Given the description of an element on the screen output the (x, y) to click on. 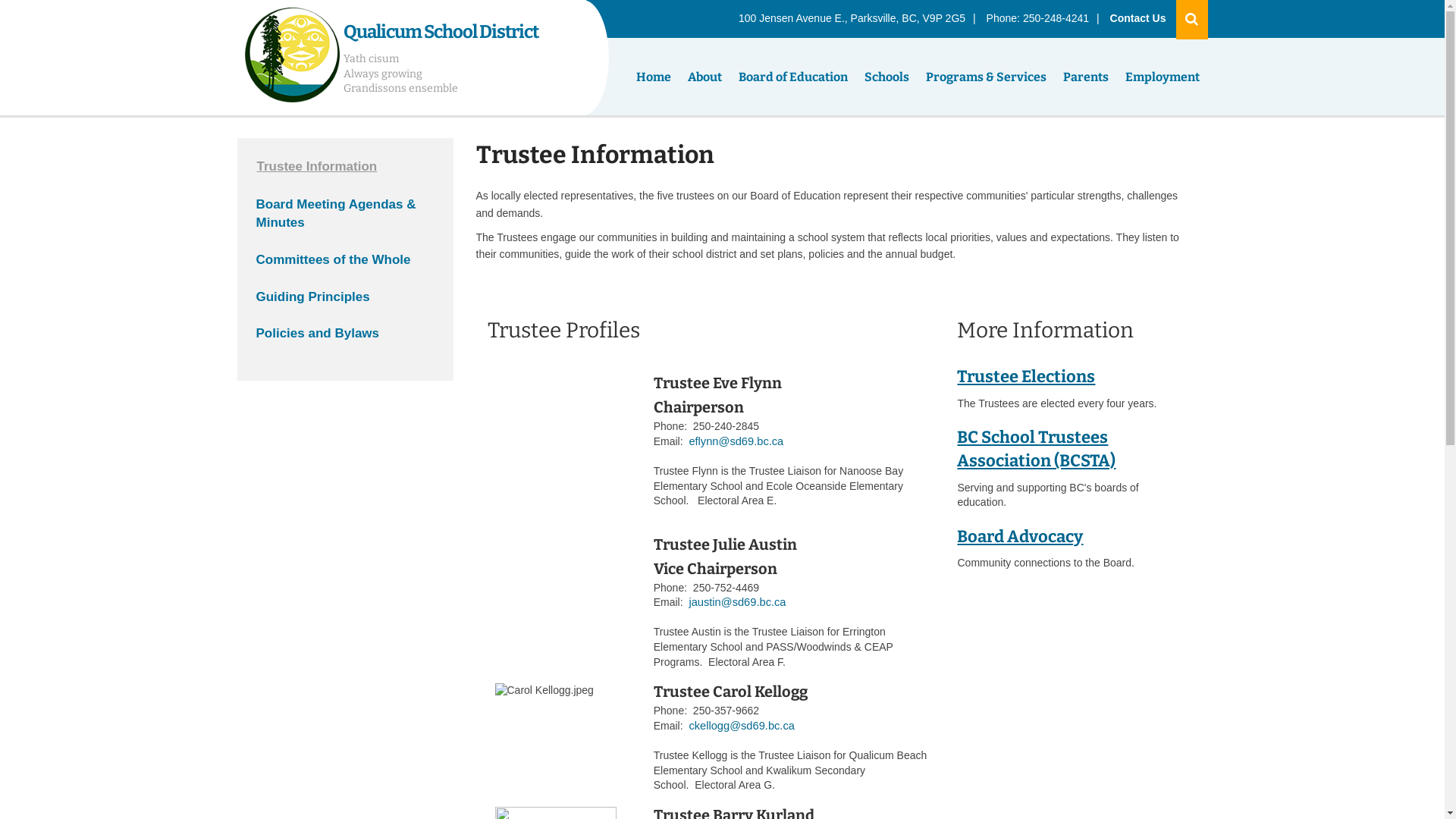
Board Meeting Agendas & Minutes Element type: text (345, 223)
Trustee Elections Element type: text (1026, 376)
Parents Element type: text (1085, 76)
jaustin@sd69.bc.ca Element type: text (736, 602)
Contact Us Element type: text (1138, 18)
Board Advocacy Element type: text (1019, 536)
250-248-4241 Element type: text (1055, 18)
BC School Trustees Association (BCSTA) Element type: text (1036, 448)
About Element type: text (704, 76)
Board of Education Element type: text (792, 76)
Policies and Bylaws Element type: text (345, 342)
Trustee Information Element type: text (345, 175)
Employment Element type: text (1161, 76)
Back to Home Element type: hover (291, 56)
Schools Element type: text (885, 76)
eflynn@sd69.bc.ca Element type: text (735, 441)
Guiding Principles Element type: text (345, 306)
Committees of the Whole Element type: text (345, 269)
Programs & Services Element type: text (985, 76)
Home Element type: text (653, 76)
ckellogg@sd69.bc.ca Element type: text (741, 725)
